Given the description of an element on the screen output the (x, y) to click on. 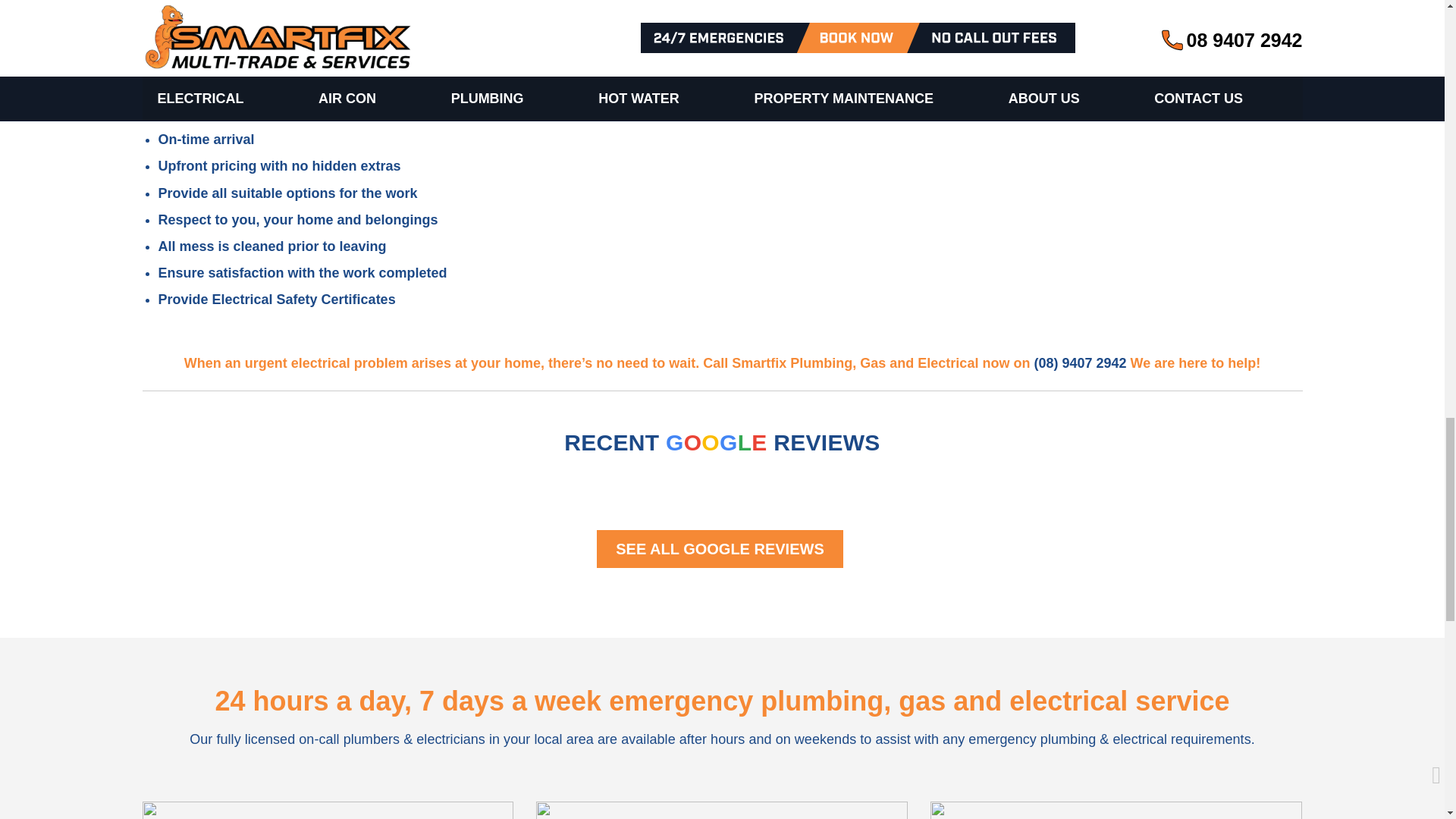
SEE ALL GOOGLE REVIEWS (719, 548)
